Given the description of an element on the screen output the (x, y) to click on. 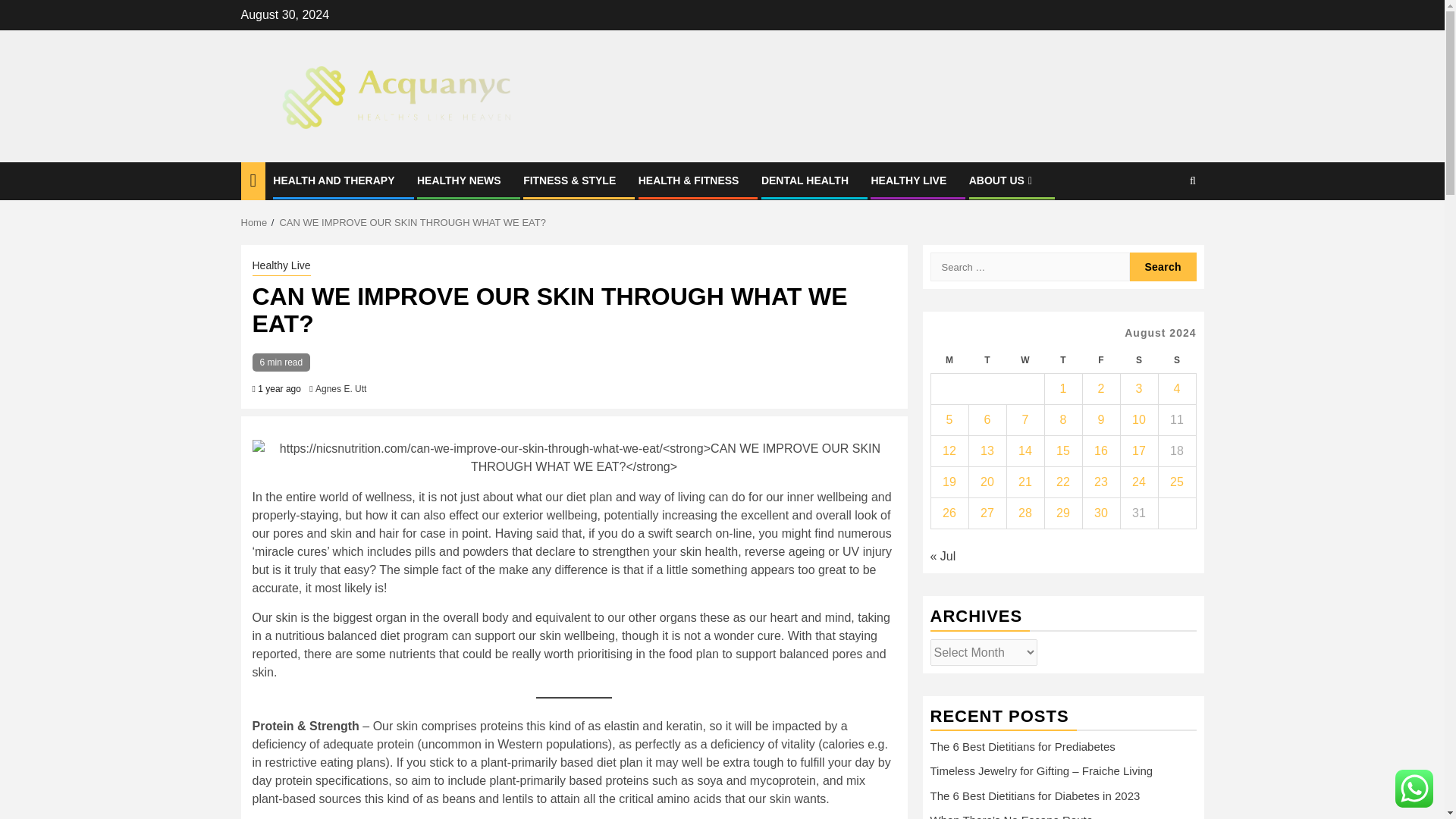
Saturday (1138, 360)
Healthy Live (280, 266)
Agnes E. Utt (340, 388)
Tuesday (987, 360)
ABOUT US (1002, 180)
HEALTHY LIVE (908, 180)
Home (254, 222)
DENTAL HEALTH (804, 180)
Monday (949, 360)
HEALTH AND THERAPY (333, 180)
